Given the description of an element on the screen output the (x, y) to click on. 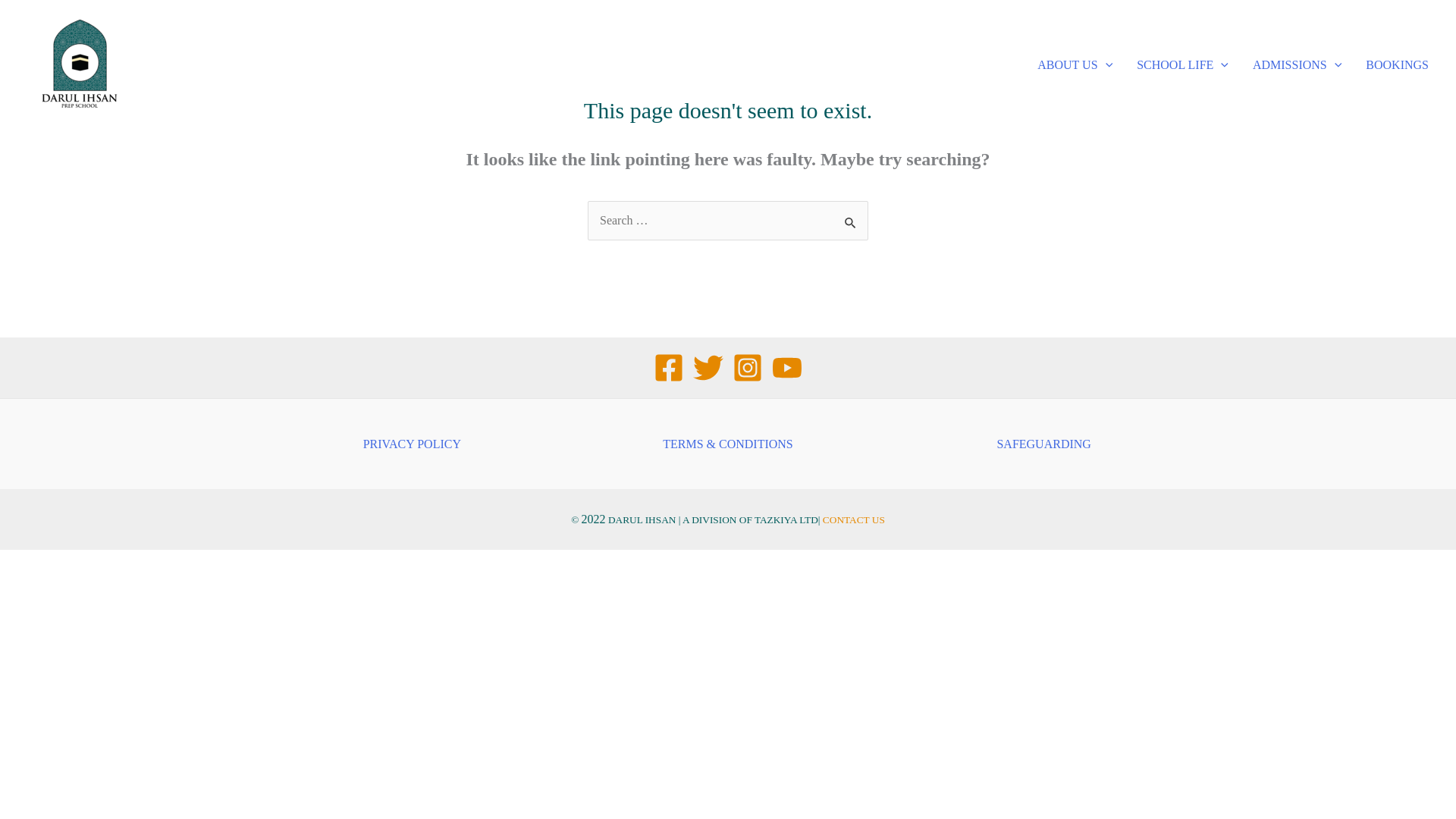
ABOUT US (1074, 64)
BOOKINGS (1397, 64)
ADMISSIONS (1297, 64)
SCHOOL LIFE (1182, 64)
